Given the description of an element on the screen output the (x, y) to click on. 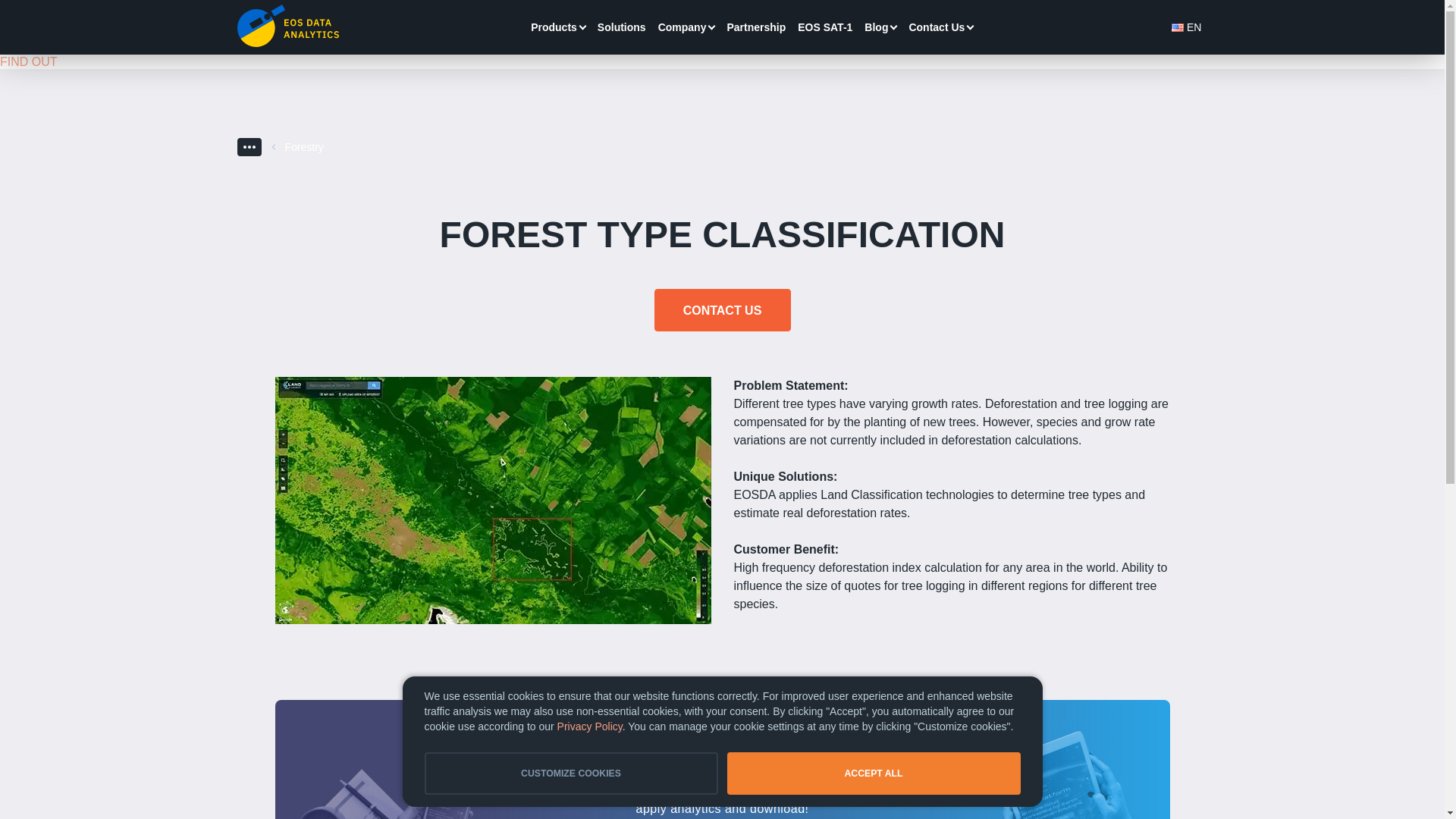
EOSDA (286, 25)
Earth Observing System (286, 25)
Company (682, 27)
